Given the description of an element on the screen output the (x, y) to click on. 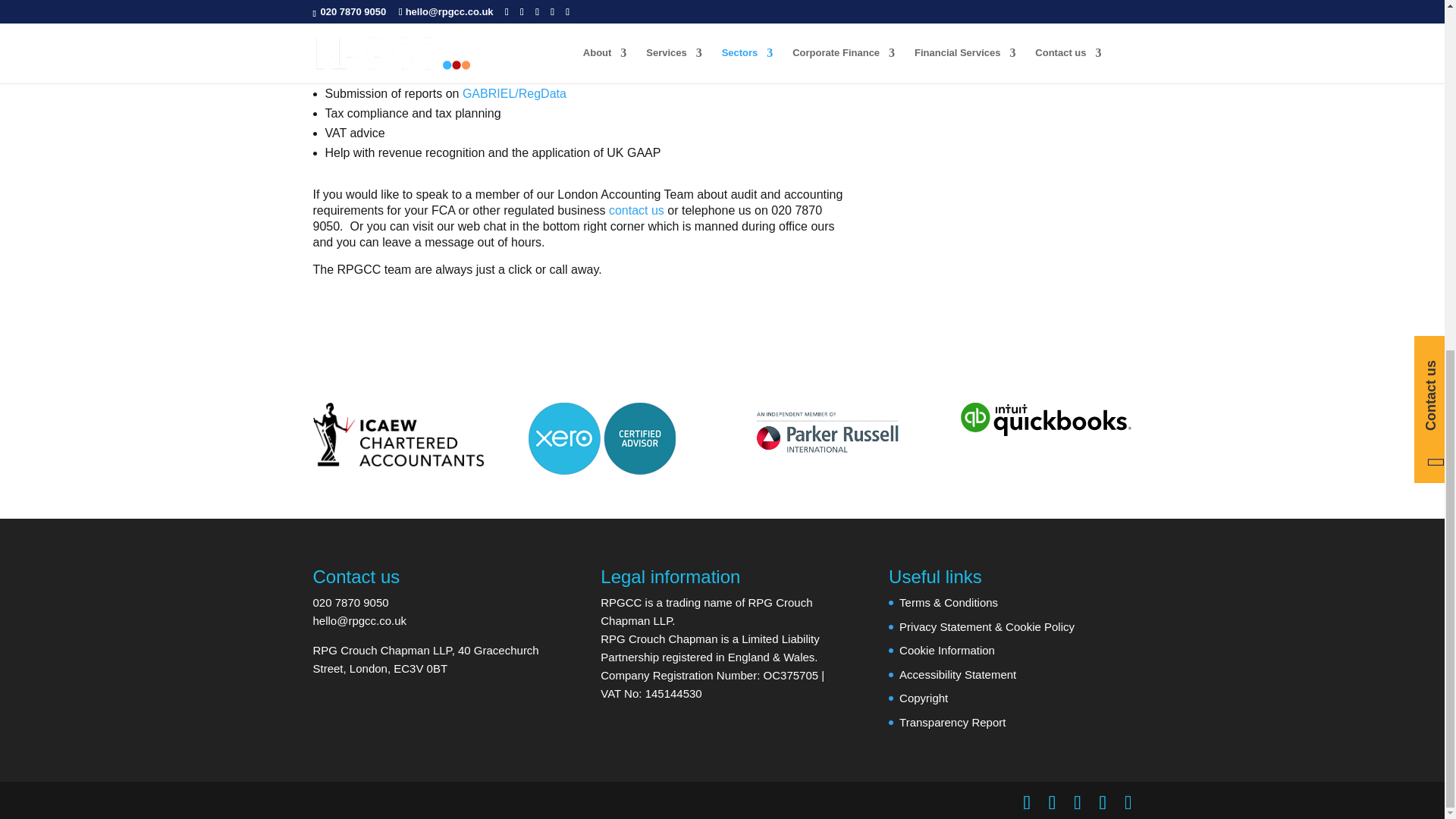
ICAEW (398, 434)
xero (601, 438)
Parker russell international (829, 434)
Quickbooks (1045, 418)
